Given the description of an element on the screen output the (x, y) to click on. 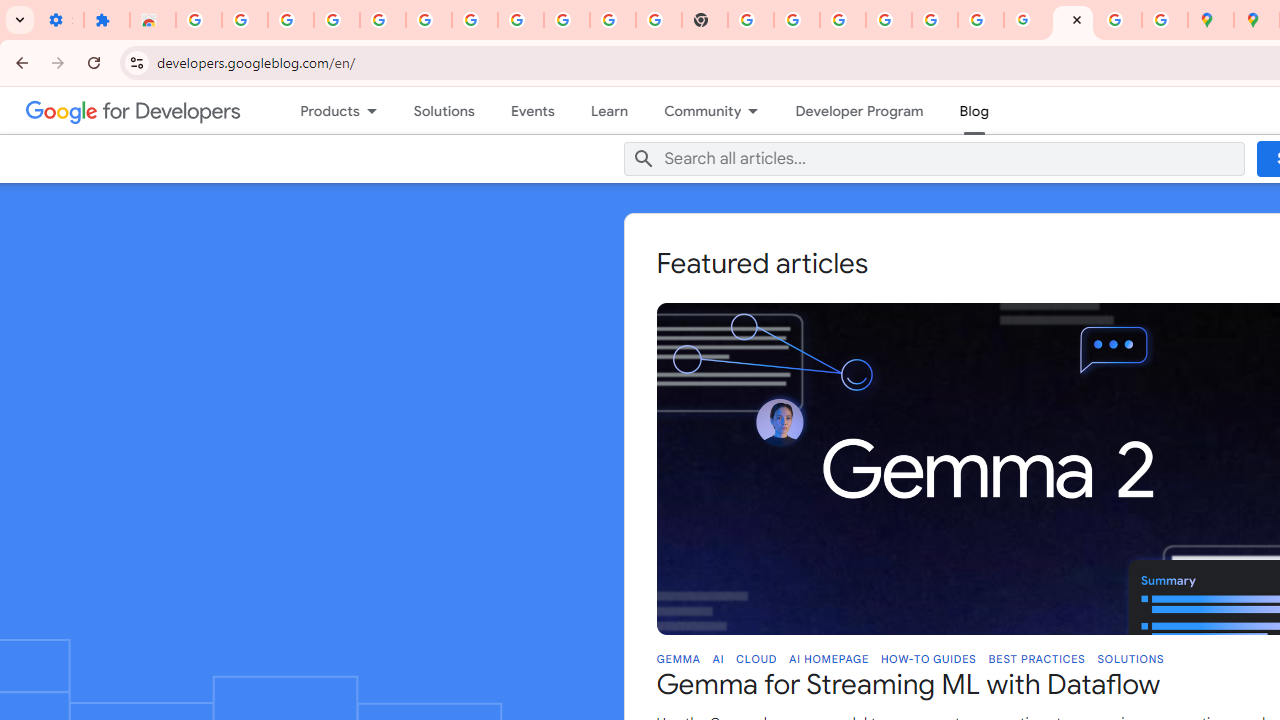
Learn how to find your photos - Google Photos Help (382, 20)
Blog (974, 110)
Google for Developers (133, 110)
Settings - On startup (60, 20)
Sign in - Google Accounts (198, 20)
Learn (609, 110)
New Tab (705, 20)
